Given the description of an element on the screen output the (x, y) to click on. 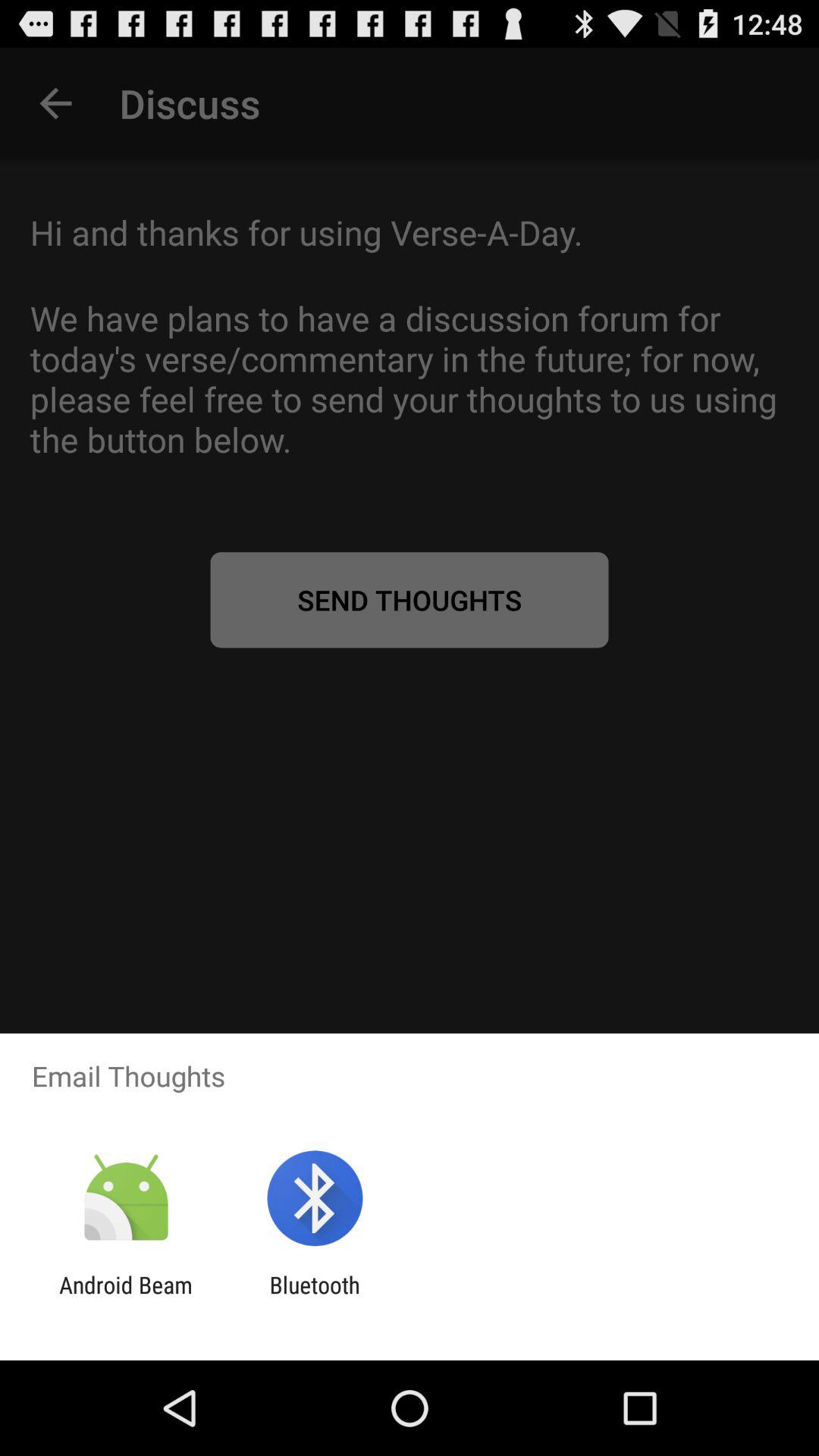
flip to the android beam item (125, 1298)
